Given the description of an element on the screen output the (x, y) to click on. 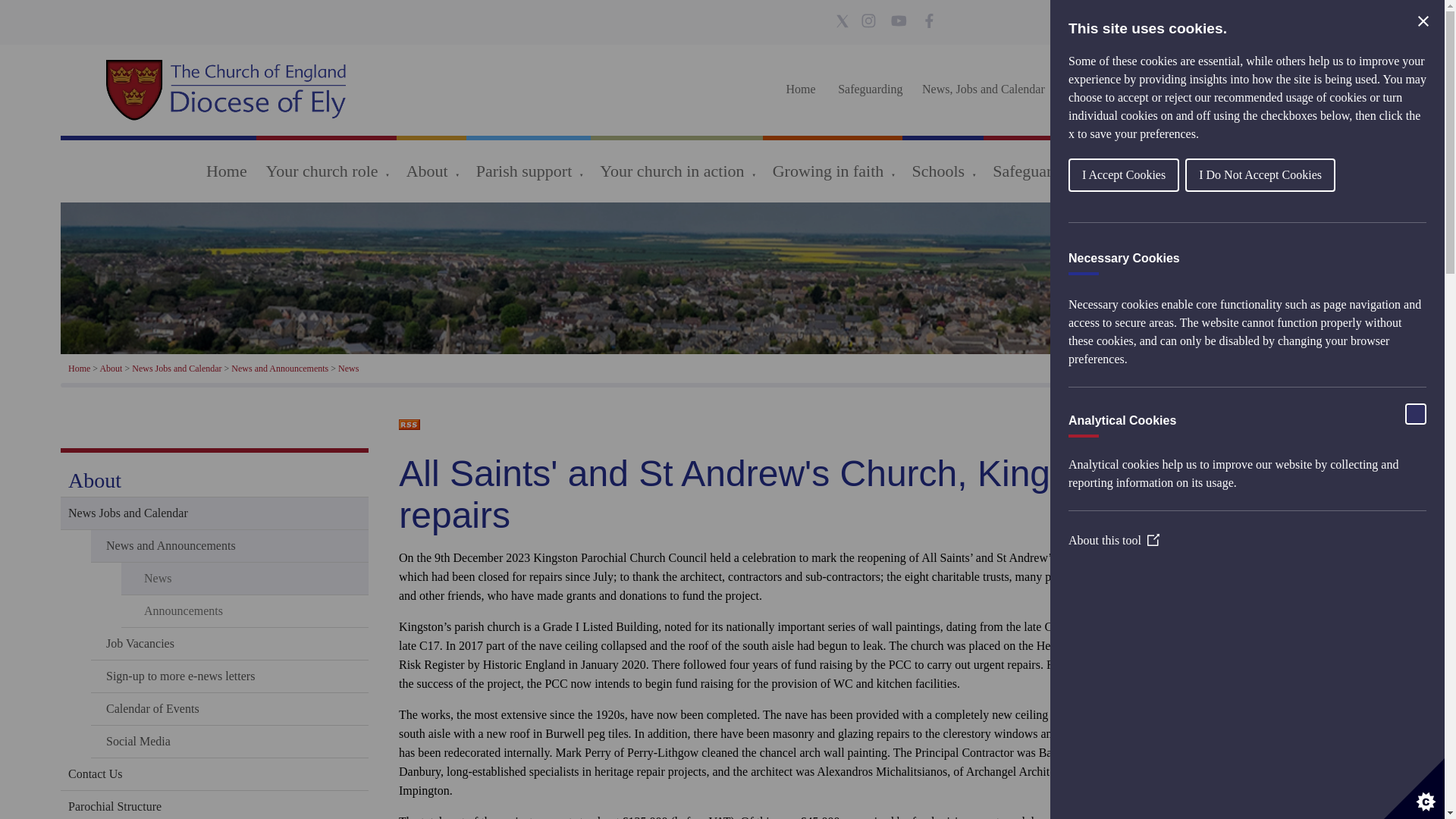
Contact us (1184, 88)
Home (801, 88)
Parish Support (1103, 88)
News, Jobs and Calendar (983, 88)
I Accept Cookies (1263, 174)
Safeguarding (869, 88)
